Given the description of an element on the screen output the (x, y) to click on. 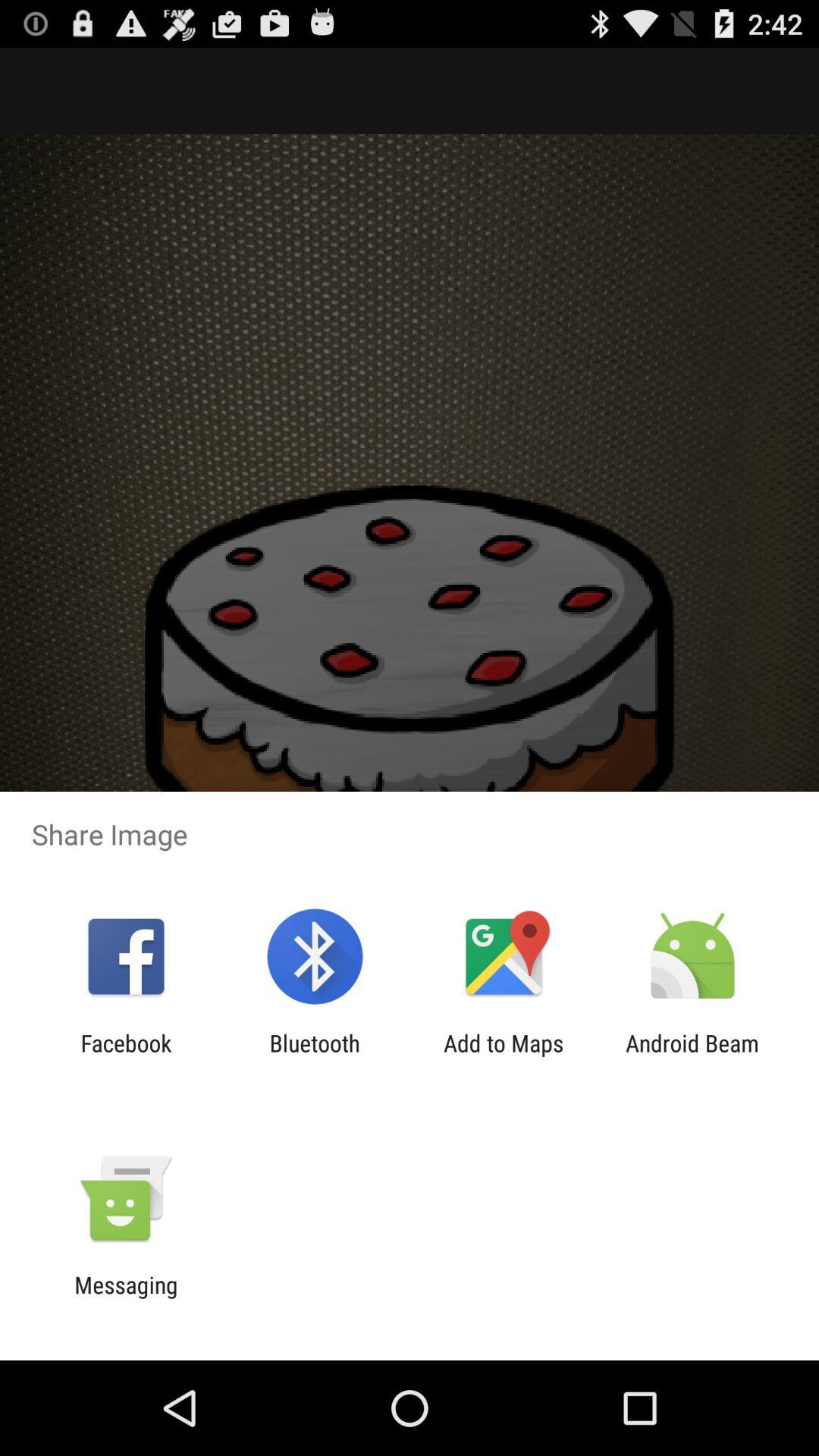
press bluetooth icon (314, 1056)
